Given the description of an element on the screen output the (x, y) to click on. 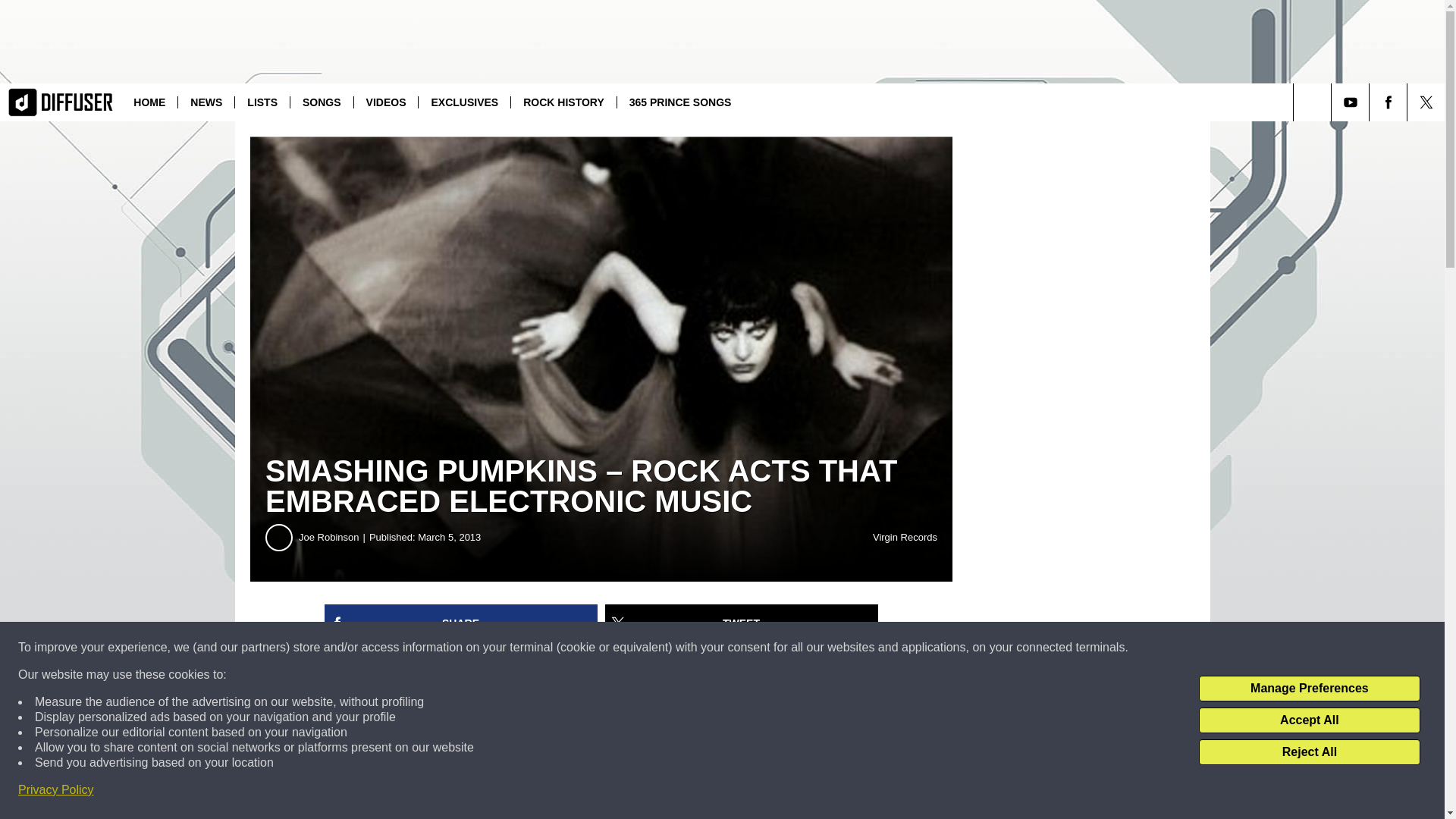
TWEET (741, 623)
SHARE (460, 623)
Smashing Pumpkins (684, 700)
NEWS (205, 102)
Joe Robinson (333, 537)
Manage Preferences (1309, 688)
Accept All (1309, 720)
LISTS (261, 102)
ROCK HISTORY (563, 102)
SHARE (460, 623)
